Given the description of an element on the screen output the (x, y) to click on. 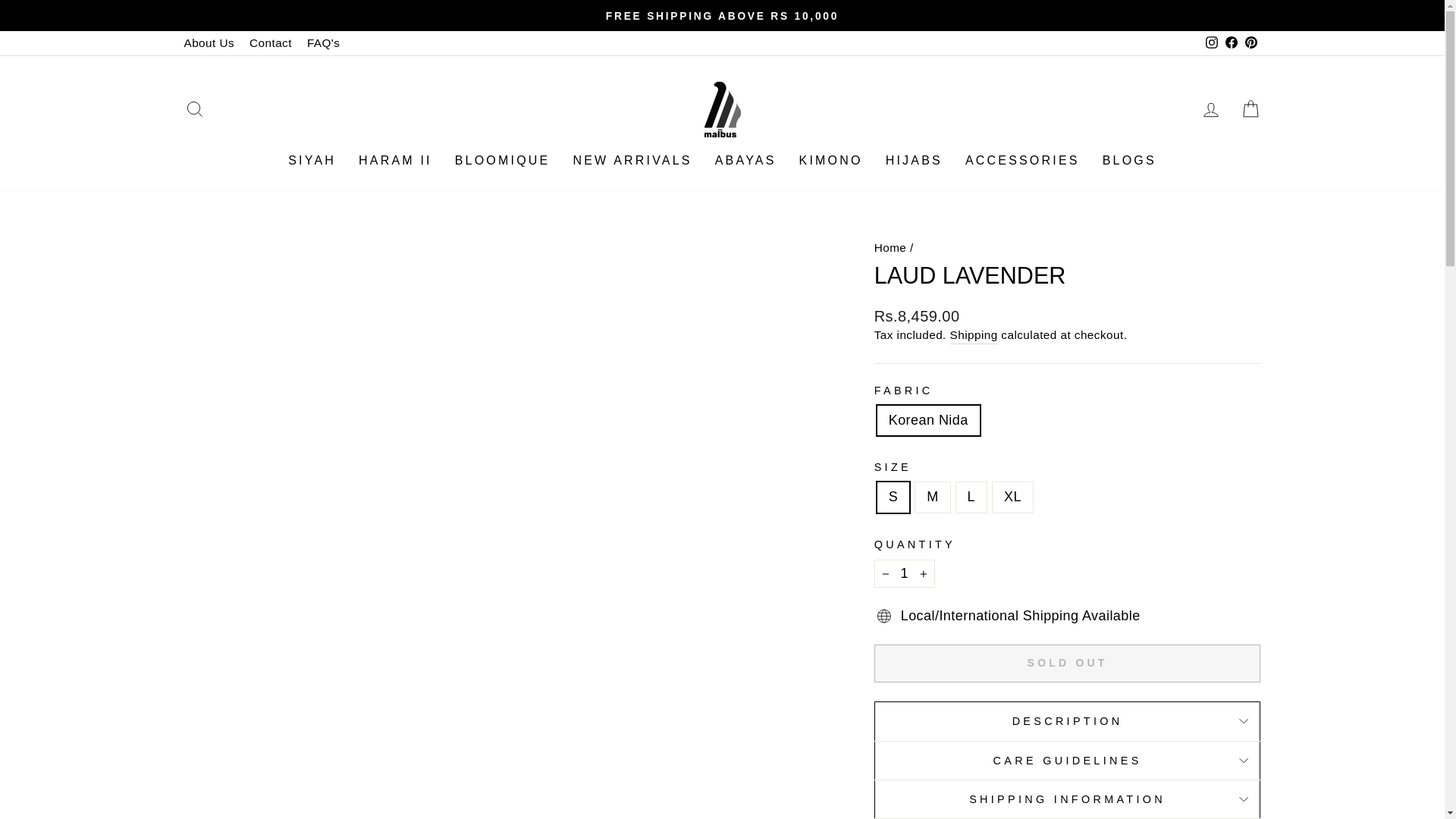
1 (904, 573)
Back to the frontpage (891, 246)
